Given the description of an element on the screen output the (x, y) to click on. 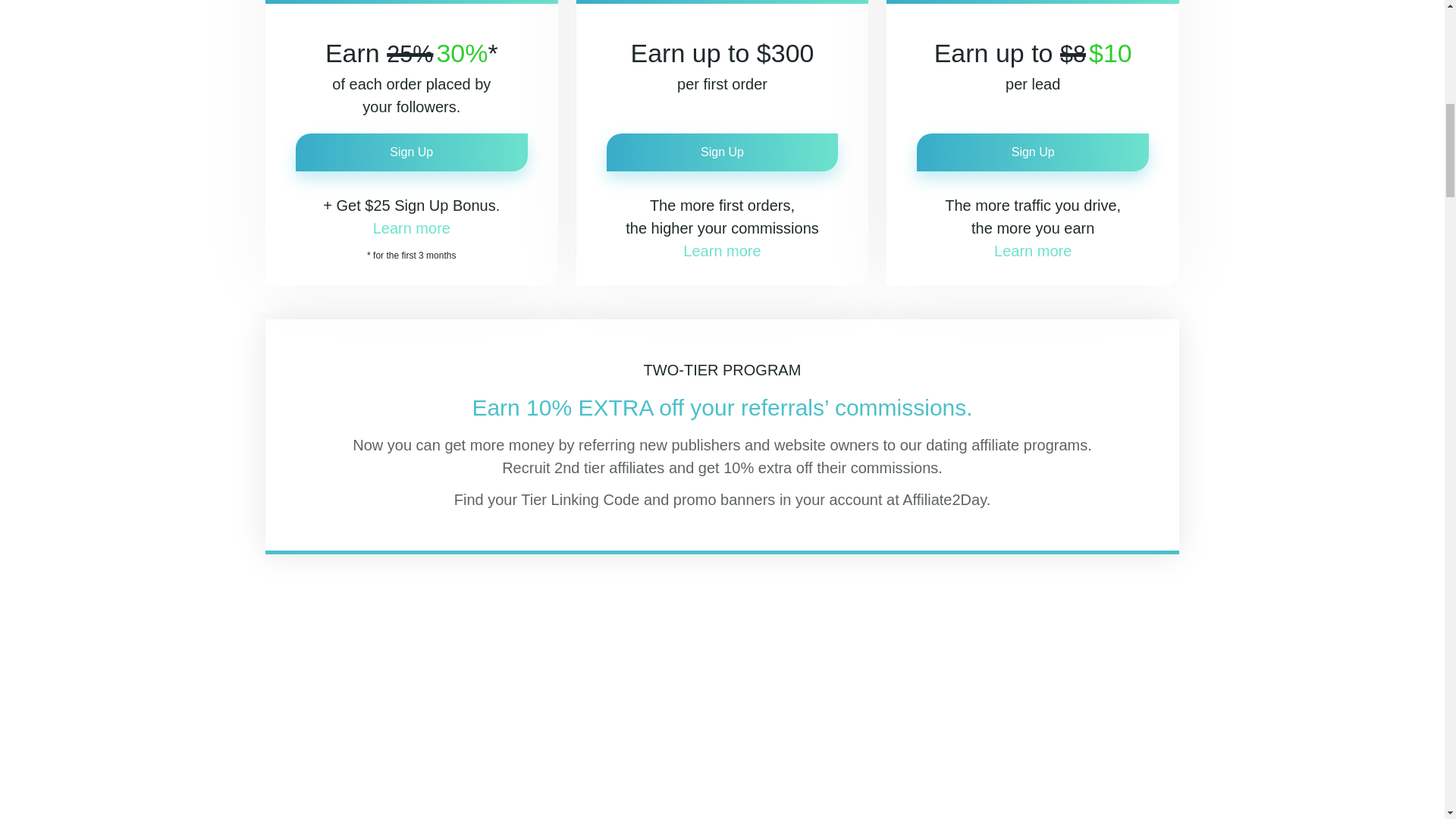
Learn more (410, 228)
Sign Up (722, 152)
Sign Up (411, 152)
Learn more (1032, 250)
Sign Up (1032, 152)
Learn more (721, 250)
